Given the description of an element on the screen output the (x, y) to click on. 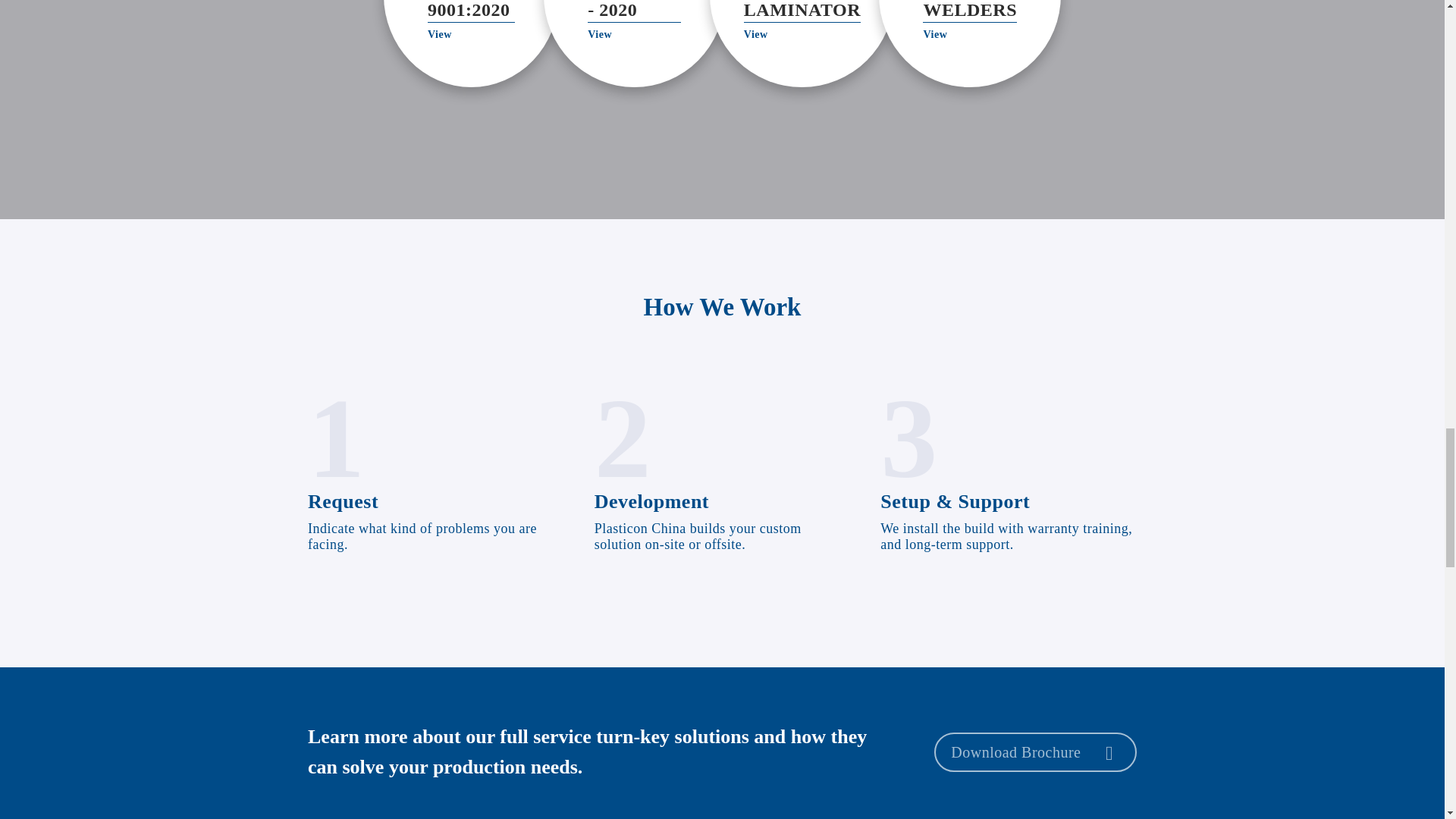
View (935, 34)
View (439, 34)
View (599, 34)
Download Brochure (1034, 751)
View (756, 34)
Download Brochure (1035, 752)
